Given the description of an element on the screen output the (x, y) to click on. 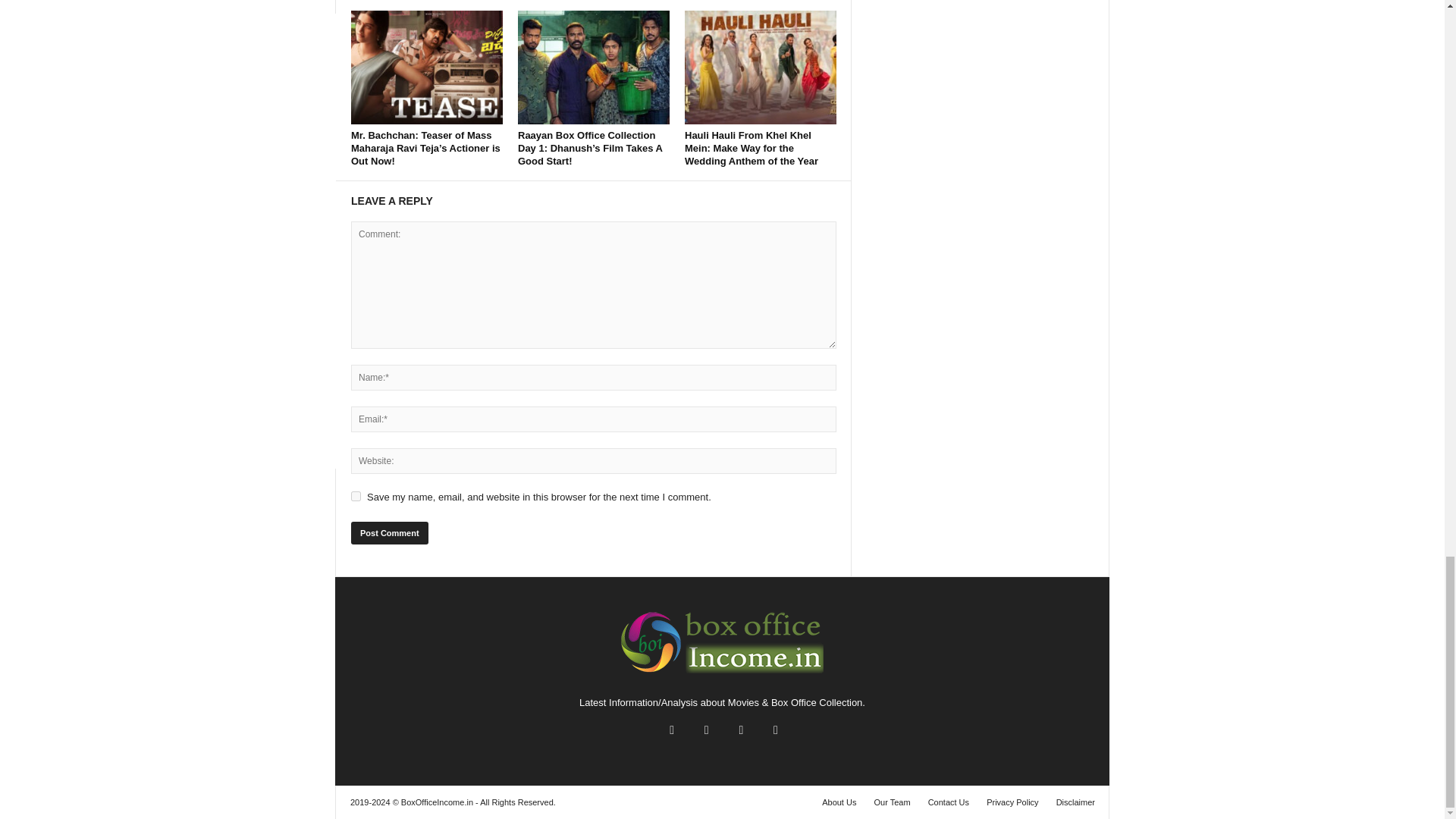
yes (355, 496)
Post Comment (389, 532)
